Given the description of an element on the screen output the (x, y) to click on. 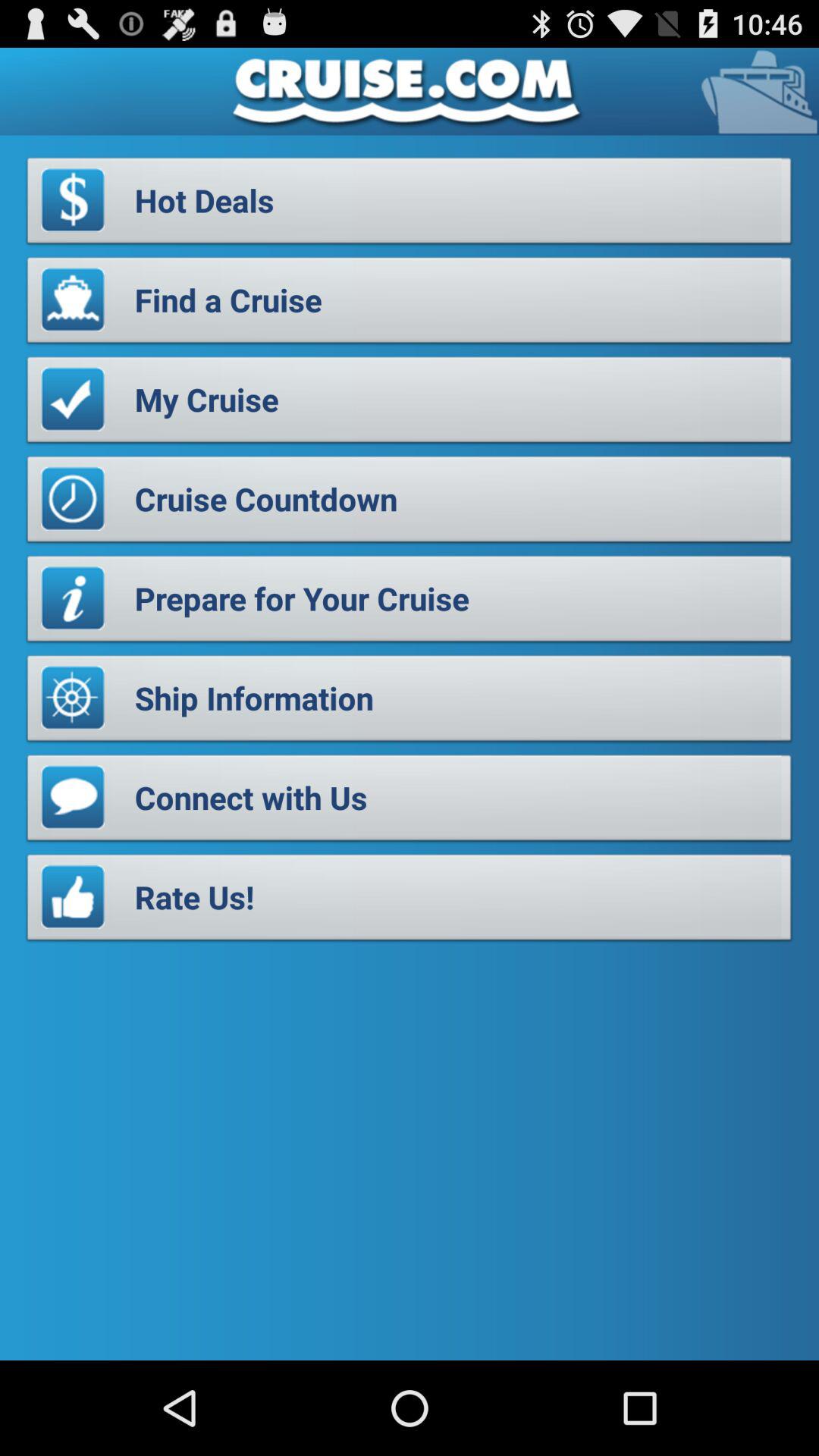
launch the icon above the prepare for your item (409, 503)
